Given the description of an element on the screen output the (x, y) to click on. 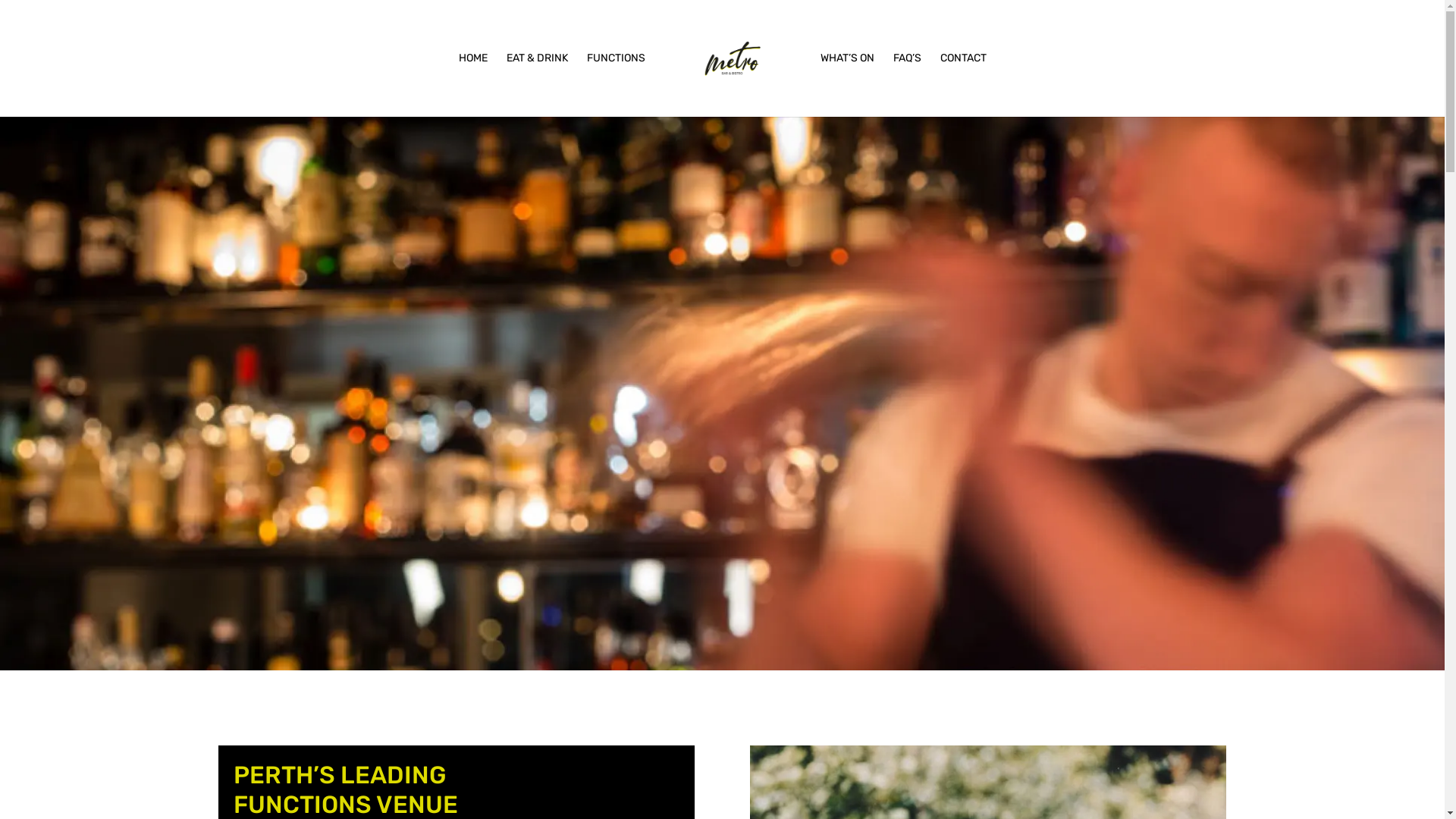
FUNCTIONS Element type: text (615, 84)
Metro Bar & Bistro Perths leading function venue Element type: hover (722, 393)
EAT & DRINK Element type: text (536, 84)
CONTACT Element type: text (963, 84)
HOME Element type: text (472, 84)
